Given the description of an element on the screen output the (x, y) to click on. 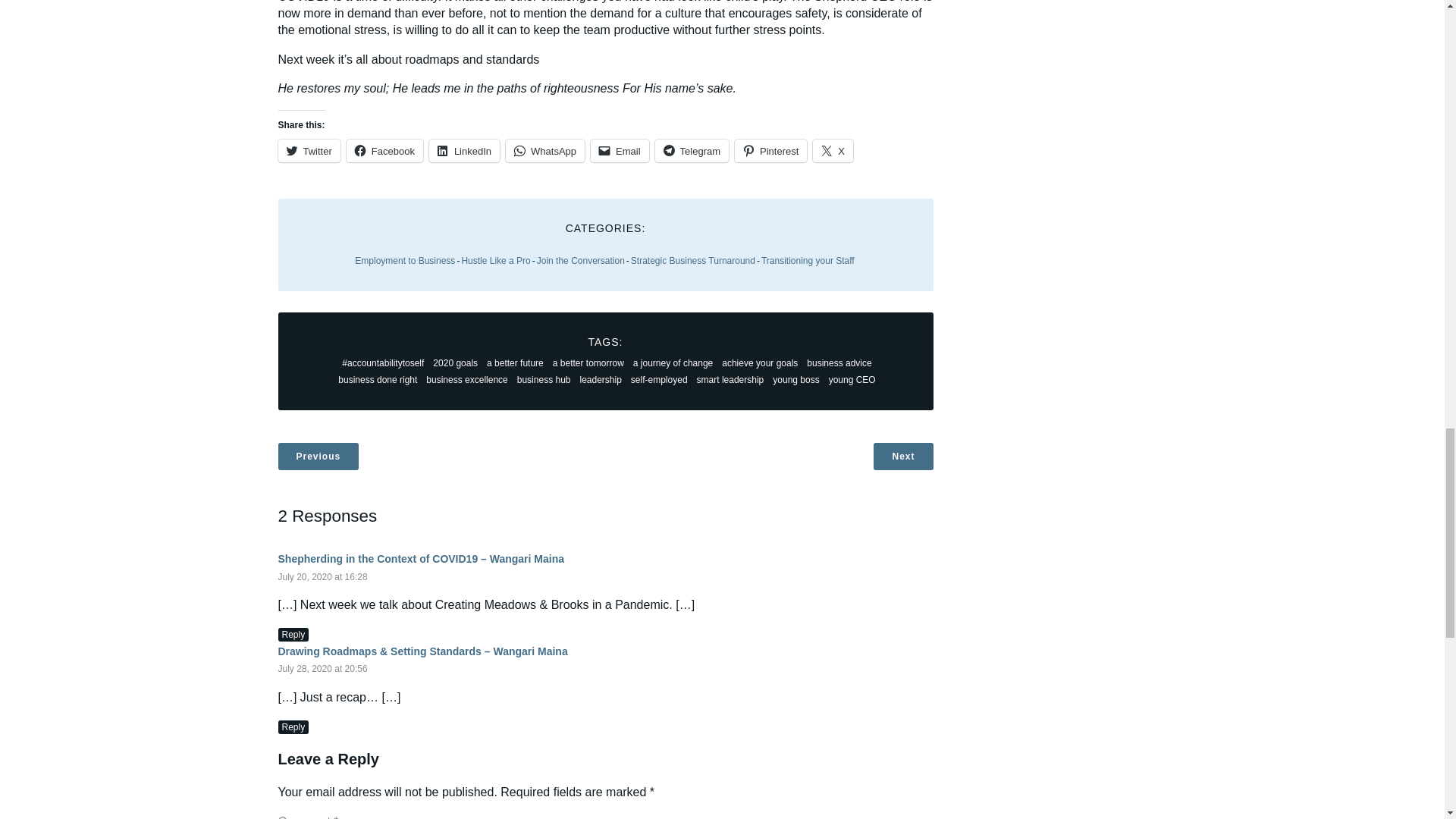
business hub (543, 379)
a better tomorrow (588, 362)
Hustle Like a Pro (495, 260)
leadership (600, 379)
WhatsApp (545, 150)
business done right (377, 379)
2020 goals (454, 362)
Click to share on X (832, 150)
Strategic Business Turnaround (692, 260)
a journey of change (673, 362)
achieve your goals (759, 362)
Click to email a link to a friend (620, 150)
Email (620, 150)
business excellence (467, 379)
LinkedIn (464, 150)
